Given the description of an element on the screen output the (x, y) to click on. 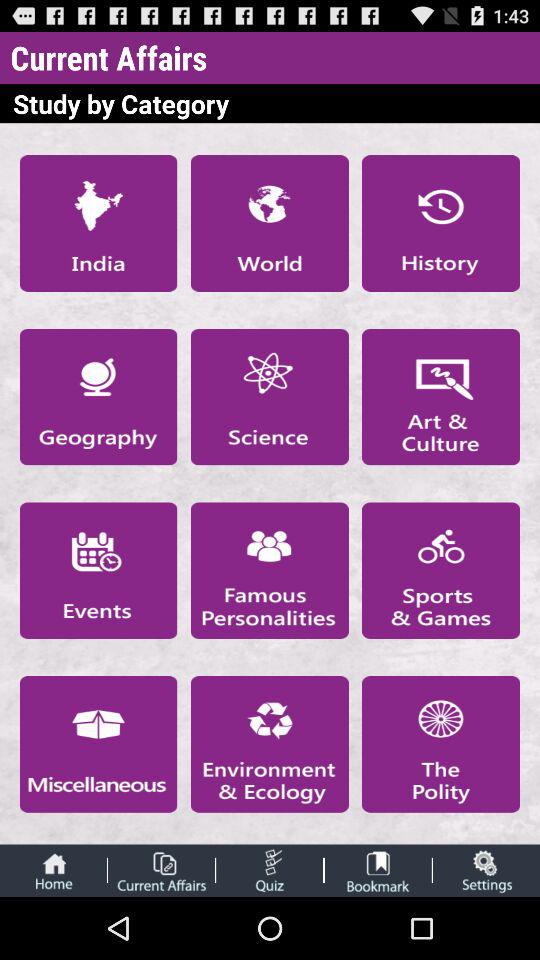
select category world (269, 223)
